Given the description of an element on the screen output the (x, y) to click on. 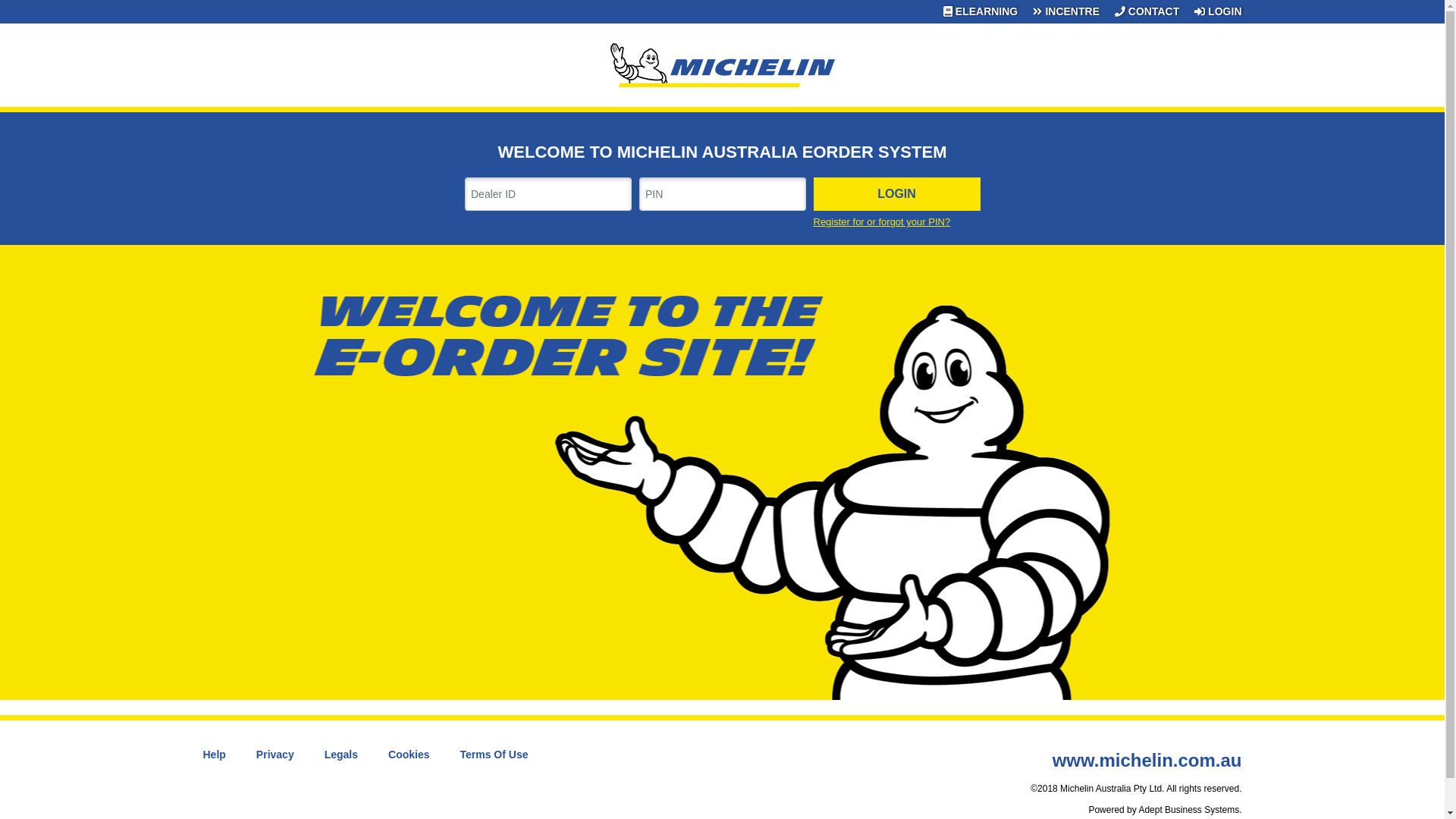
CONTACT Element type: text (1146, 11)
Privacy Element type: text (275, 754)
Adept Business Systems Element type: text (1188, 809)
INCENTRE Element type: text (1066, 11)
ELEARNING Element type: text (980, 11)
LOGIN Element type: text (1213, 11)
LOGIN Element type: text (895, 193)
Help Element type: text (214, 754)
www.michelin.com.au Element type: text (1147, 759)
Register for or forgot your PIN? Element type: text (895, 221)
Cookies Element type: text (408, 754)
Legals Element type: text (340, 754)
Terms Of Use Element type: text (493, 754)
